Given the description of an element on the screen output the (x, y) to click on. 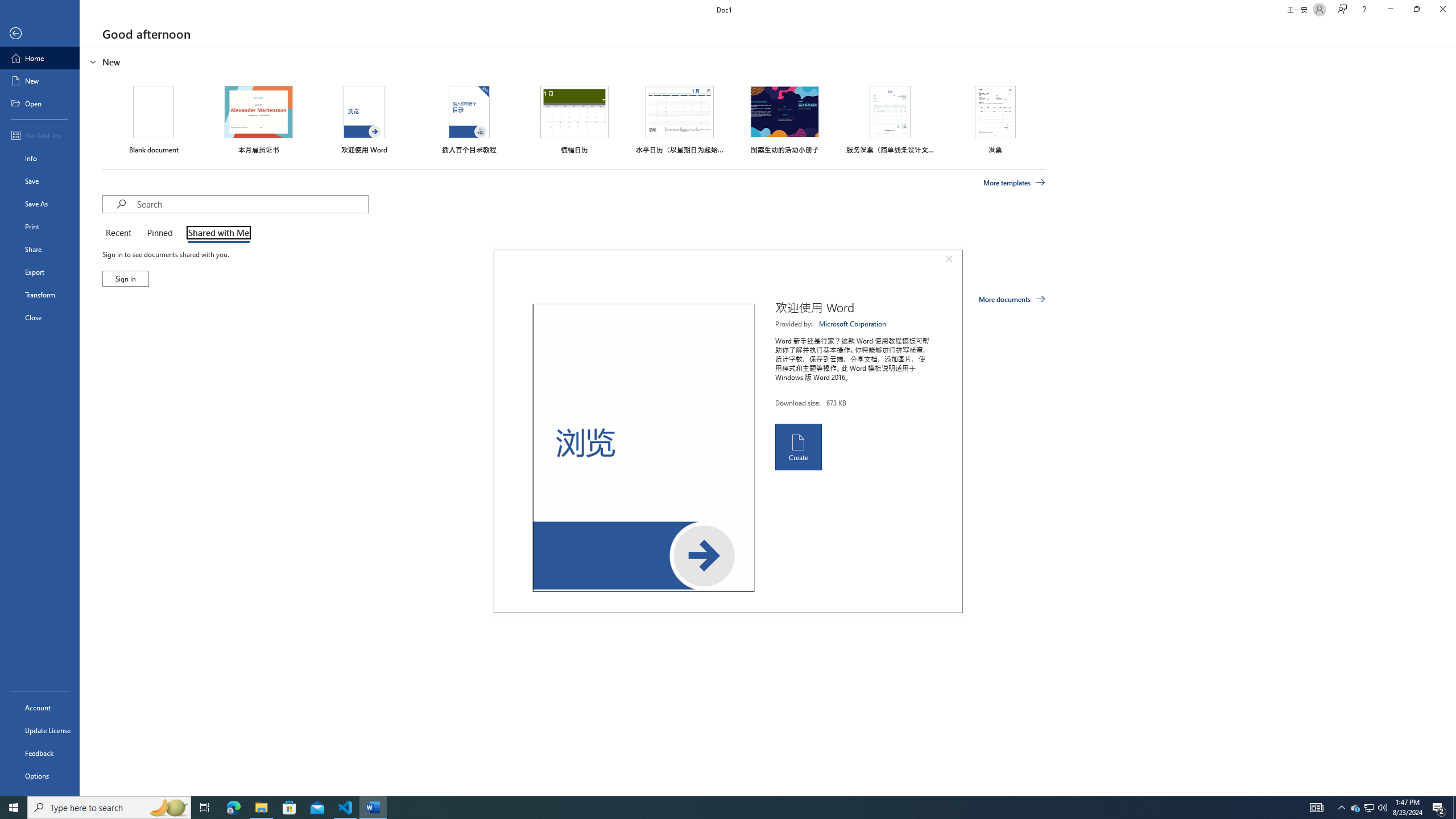
Microsoft Corporation (853, 323)
Open (40, 102)
Save As (40, 203)
More documents (1011, 298)
Get Add-ins (40, 134)
Transform (40, 294)
